Given the description of an element on the screen output the (x, y) to click on. 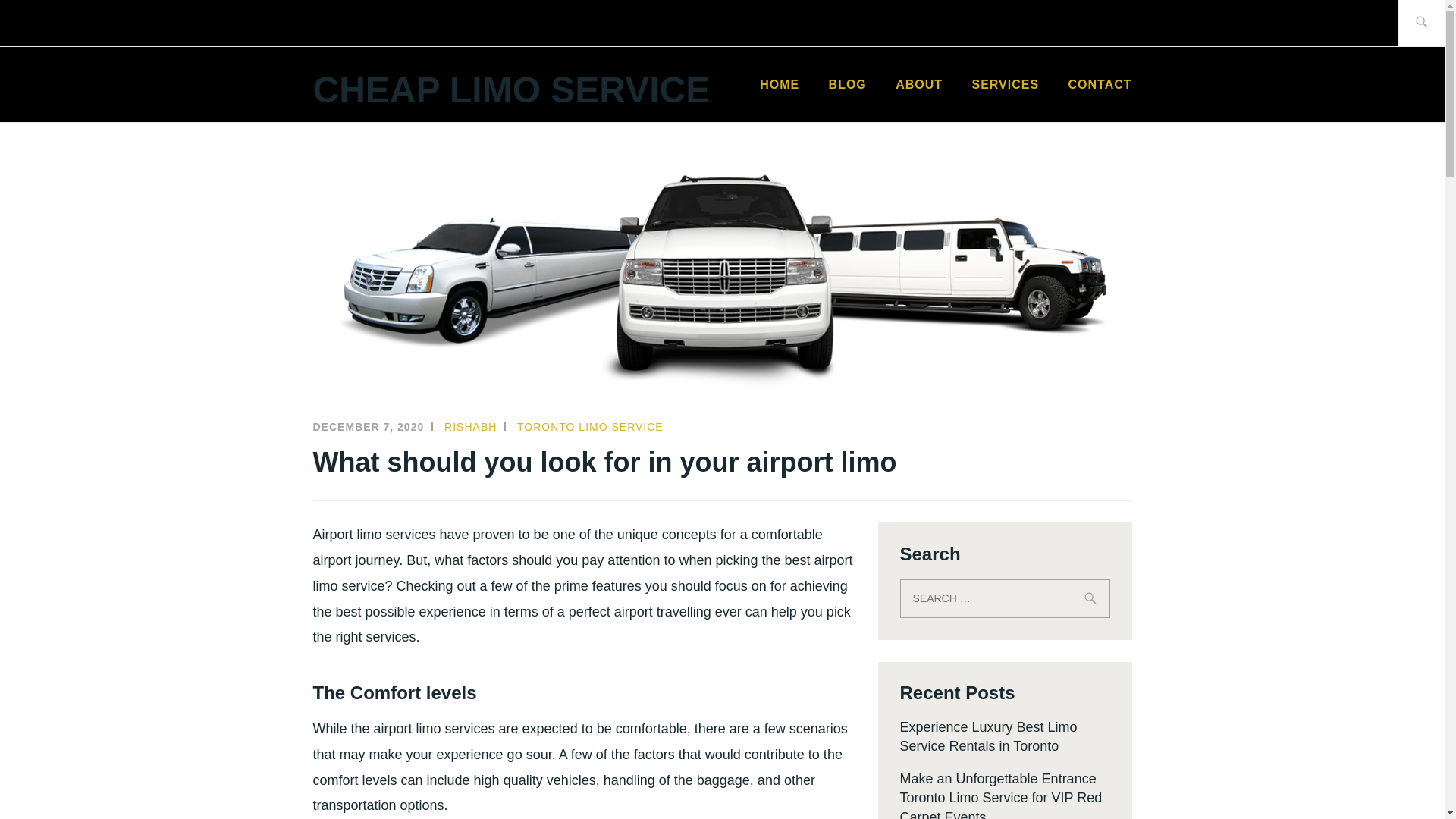
Experience Luxury Best Limo Service Rentals in Toronto (988, 736)
RISHABH (470, 426)
ABOUT (918, 84)
HOME (779, 84)
CHEAP LIMO SERVICE (511, 89)
SERVICES (1005, 84)
BLOG (847, 84)
TORONTO LIMO SERVICE (589, 426)
CONTACT (1099, 84)
Search for: (1004, 598)
DECEMBER 7, 2020 (368, 426)
Search (47, 22)
